Given the description of an element on the screen output the (x, y) to click on. 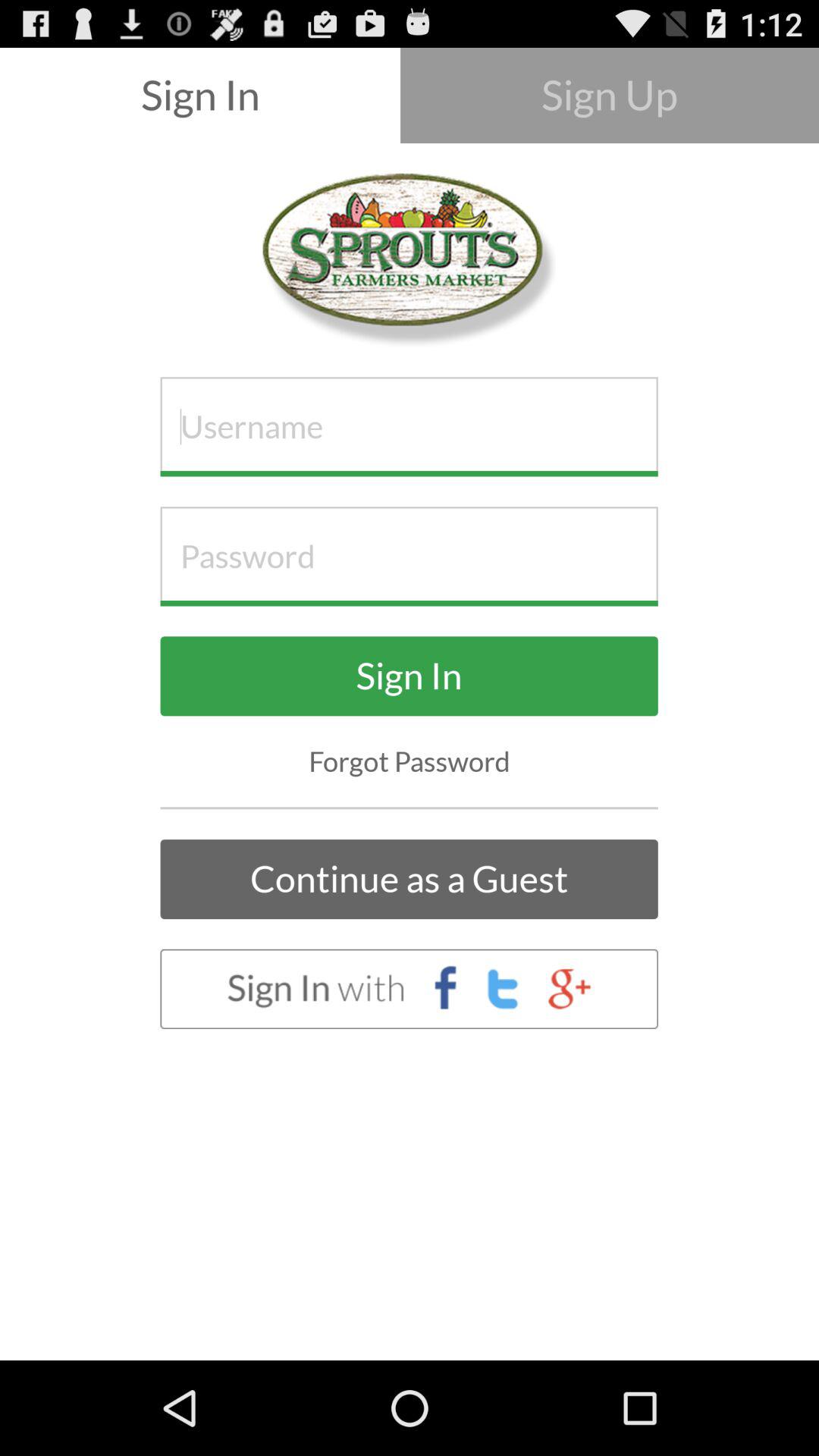
select the button at the top right corner (609, 95)
